Given the description of an element on the screen output the (x, y) to click on. 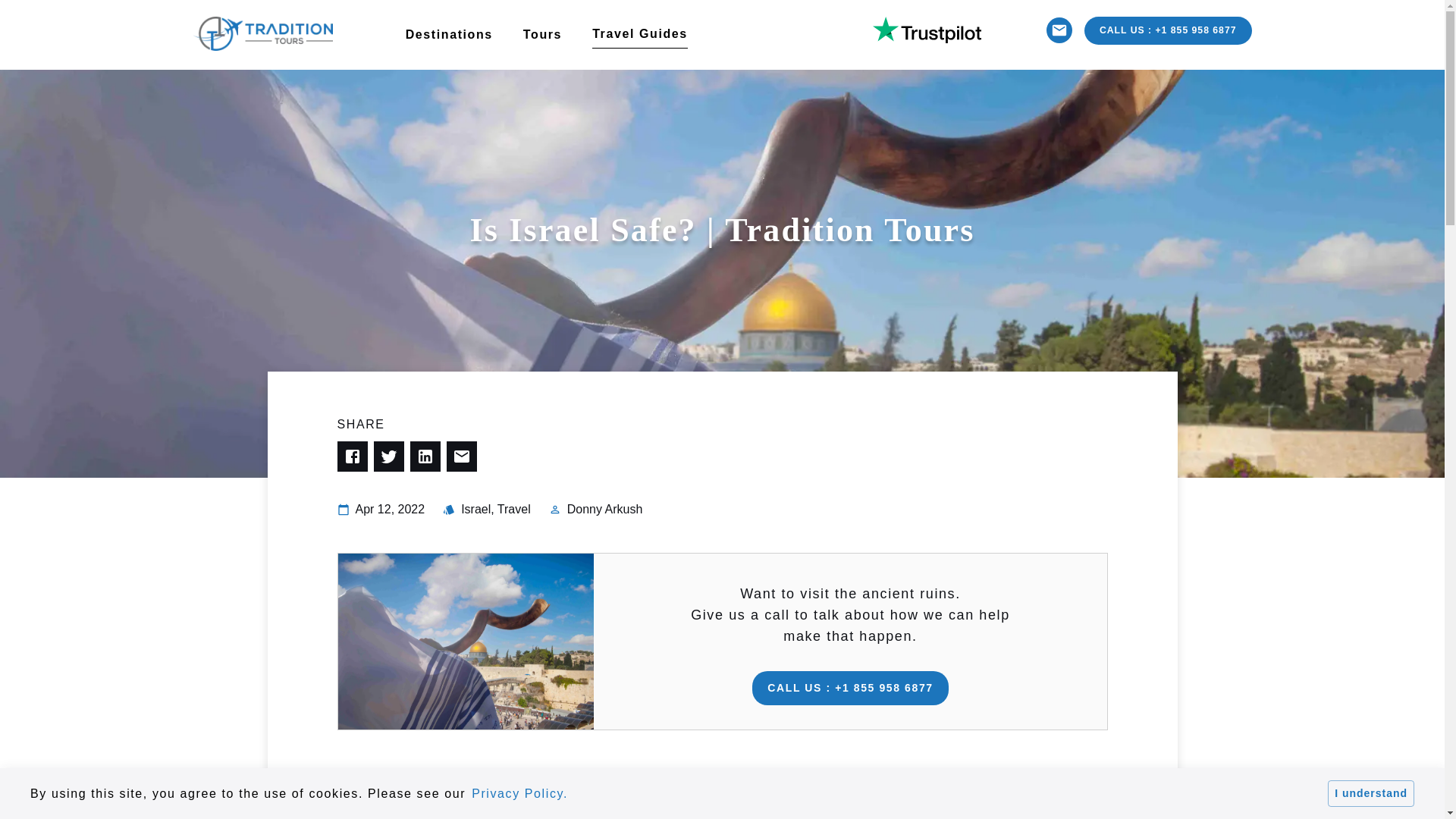
logo (261, 33)
Share with Twitter (387, 456)
Destinations (464, 34)
Share with Facebook (351, 456)
Share with Email (460, 456)
Travel Guides (654, 34)
Share with LinkedIn (424, 456)
